Given the description of an element on the screen output the (x, y) to click on. 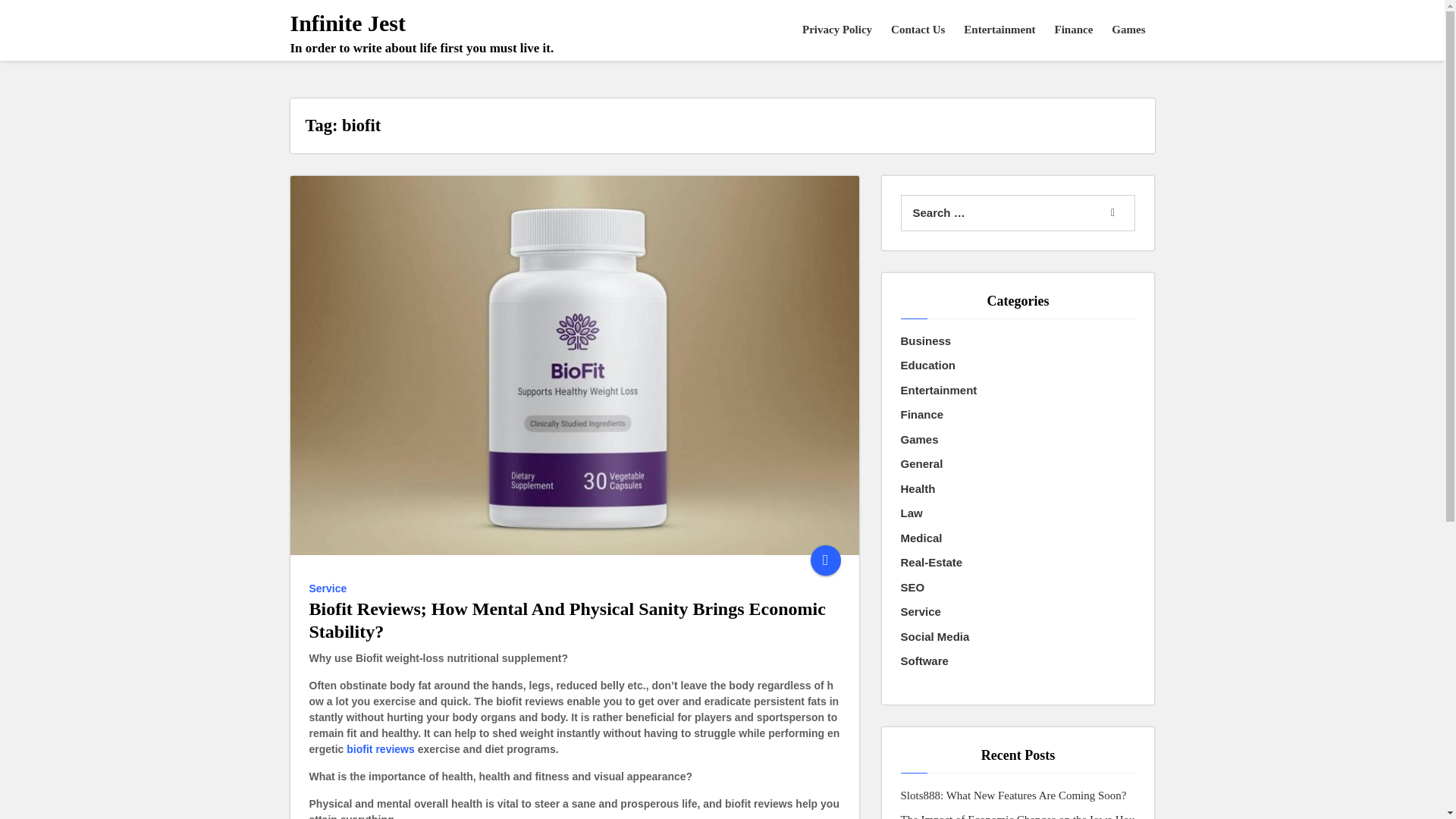
Games (1128, 29)
Finance (1073, 29)
Software (925, 661)
Service (920, 611)
Entertainment (1000, 29)
Finance (922, 415)
Social Media (935, 637)
Business (926, 341)
Games (920, 439)
